Given the description of an element on the screen output the (x, y) to click on. 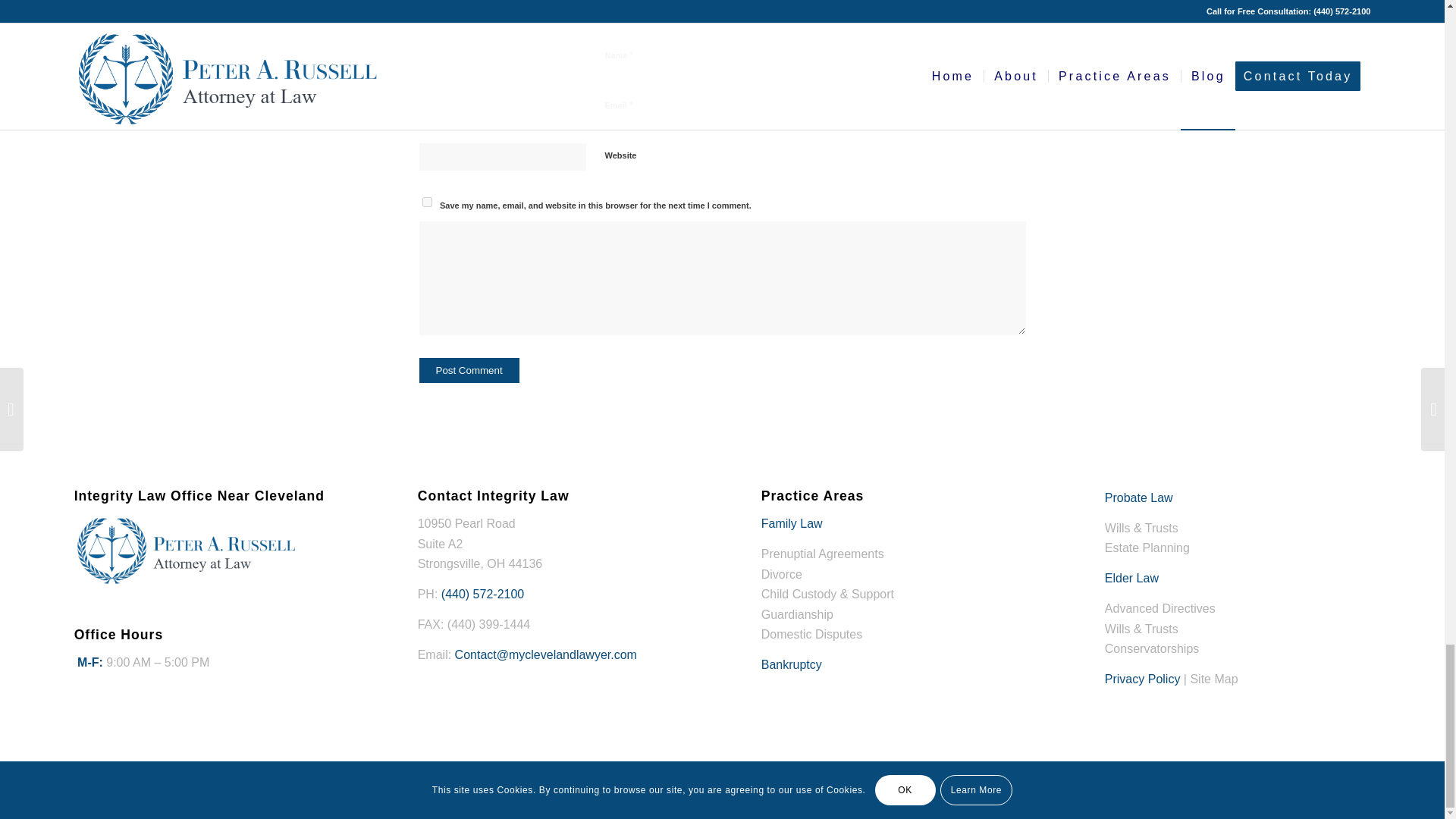
Elder Law (1131, 577)
Post Comment (468, 369)
Family Law (791, 522)
Bankruptcy (791, 664)
Post Comment (468, 369)
Privacy Policy (1142, 678)
Probate Law (1139, 497)
yes (426, 202)
